Given the description of an element on the screen output the (x, y) to click on. 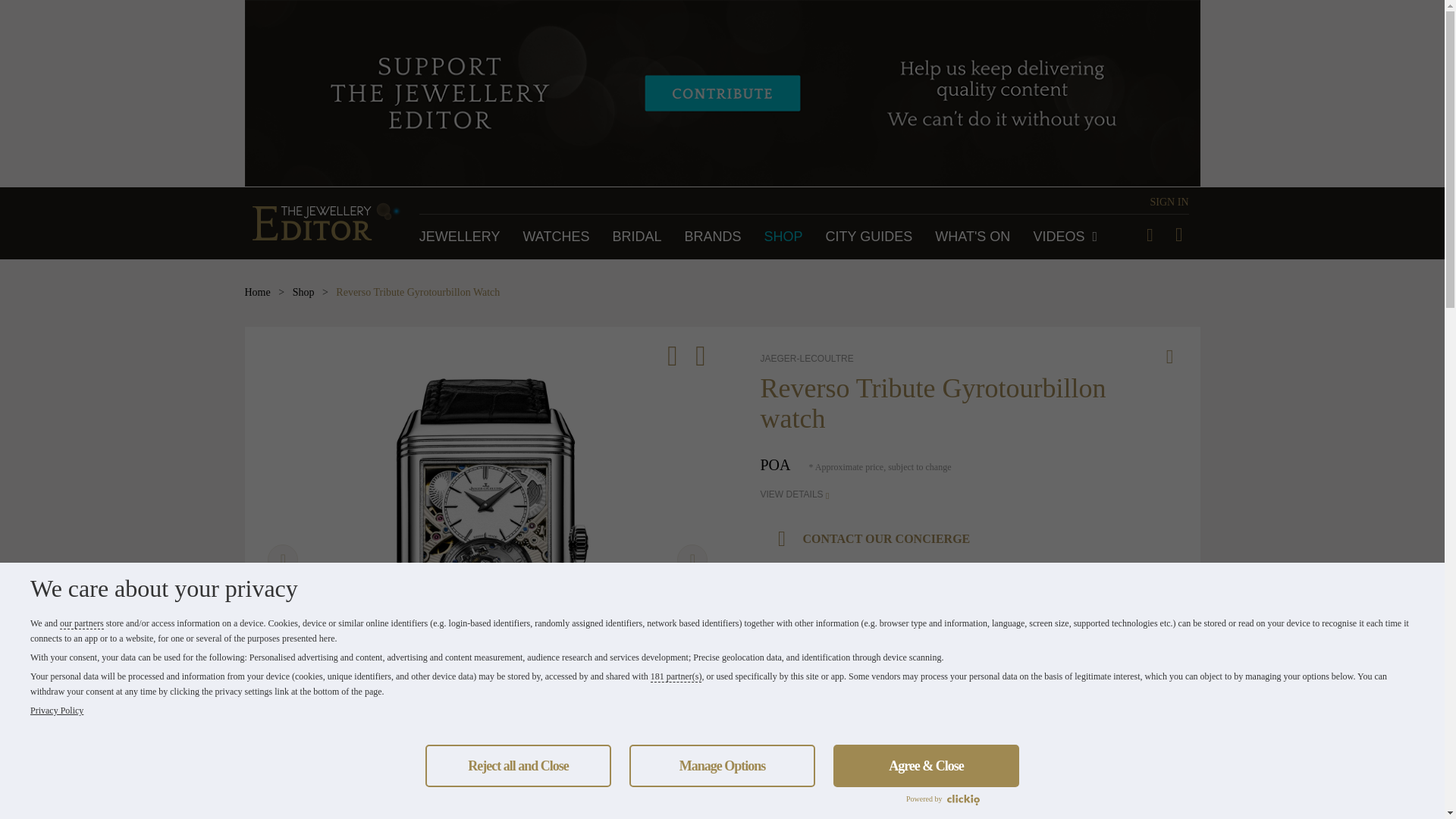
Videos (1064, 236)
Go to Brands (712, 236)
WHAT'S ON (972, 236)
Go to Watches (555, 236)
Go to Bridal (636, 236)
CITY GUIDES (868, 236)
WATCHES (555, 236)
Go to City Guides (868, 236)
Home (256, 292)
Go to What's On (972, 236)
JEWELLERY (459, 236)
BRANDS (712, 236)
Shop (303, 292)
SHOP (783, 236)
Go to Jewellery (459, 236)
